Given the description of an element on the screen output the (x, y) to click on. 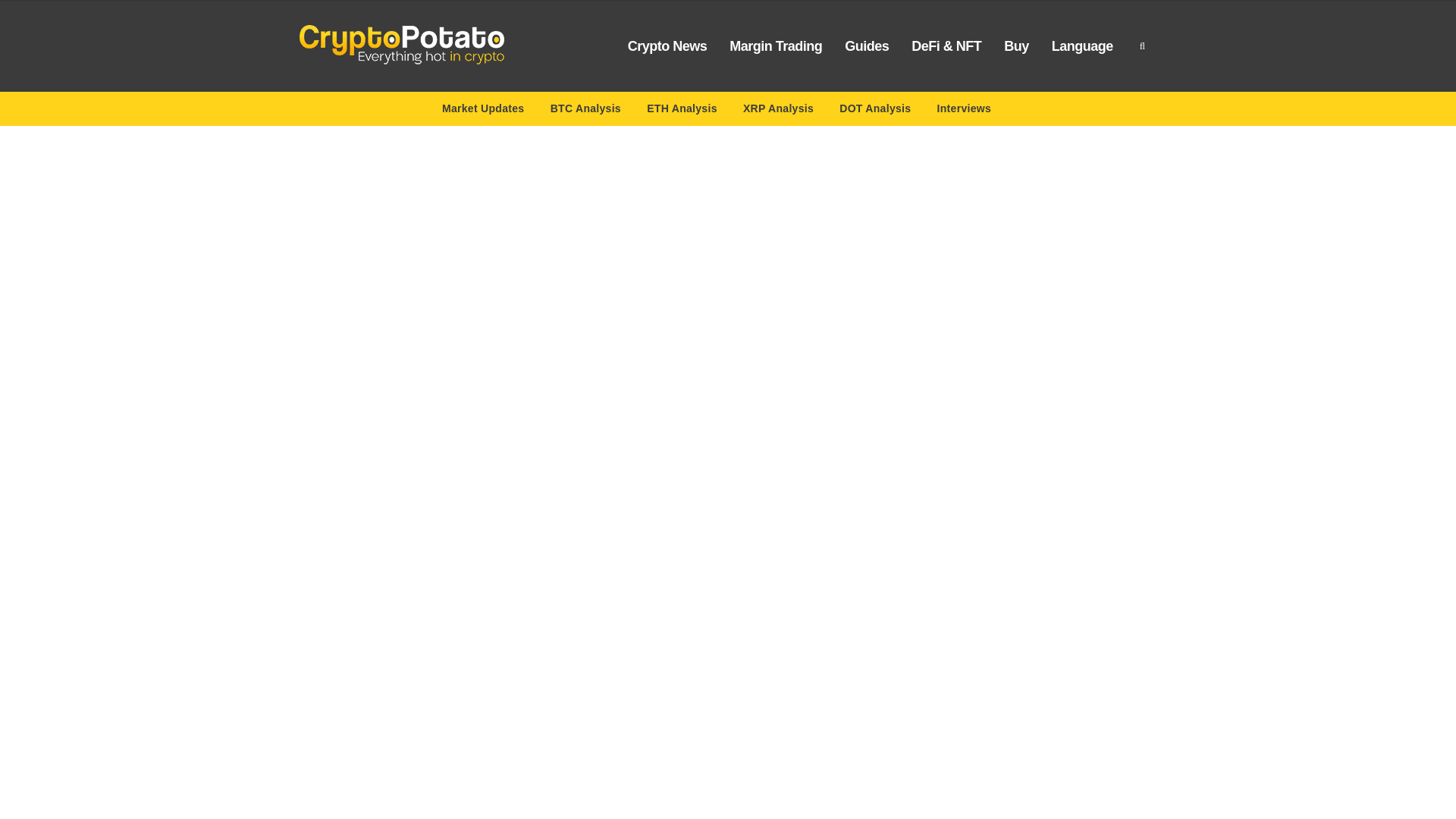
Margin Trading (774, 45)
ETH Analysis (681, 110)
BTC Analysis (585, 110)
DOT Analysis (875, 110)
Market Updates (483, 110)
Interviews (964, 110)
Crypto News (667, 45)
Language (1082, 45)
XRP Analysis (777, 110)
